Given the description of an element on the screen output the (x, y) to click on. 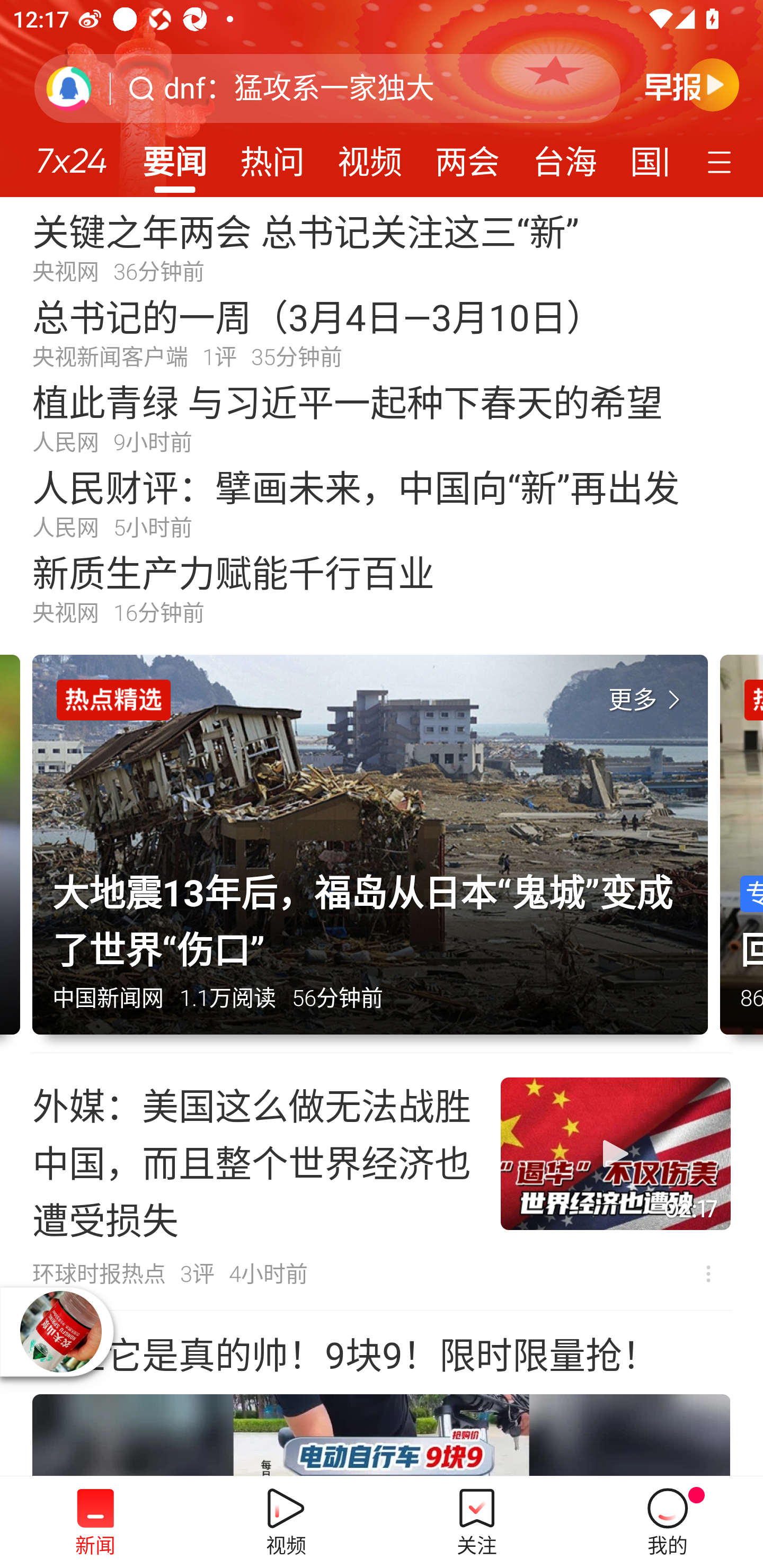
早晚报 (691, 84)
刷新 (68, 88)
dnf：猛攻系一家独大 (299, 88)
7x24 (70, 154)
要闻 (174, 155)
热问 (272, 155)
视频 (369, 155)
两会 (466, 155)
台海 (564, 155)
 定制频道 (721, 160)
关键之年两会 总书记关注这三“新” 央视网 36分钟前 (381, 245)
总书记的一周（3月4日—3月10日） 央视新闻客户端 1评 35分钟前 (381, 331)
植此青绿 与习近平一起种下春天的希望 人民网 9小时前 (381, 416)
人民财评：擘画未来，中国向“新”再出发 人民网 5小时前 (381, 502)
新质生产力赋能千行百业 央视网 16分钟前 (381, 587)
更多  (648, 699)
 不感兴趣 (707, 1273)
播放器 (61, 1331)
